Given the description of an element on the screen output the (x, y) to click on. 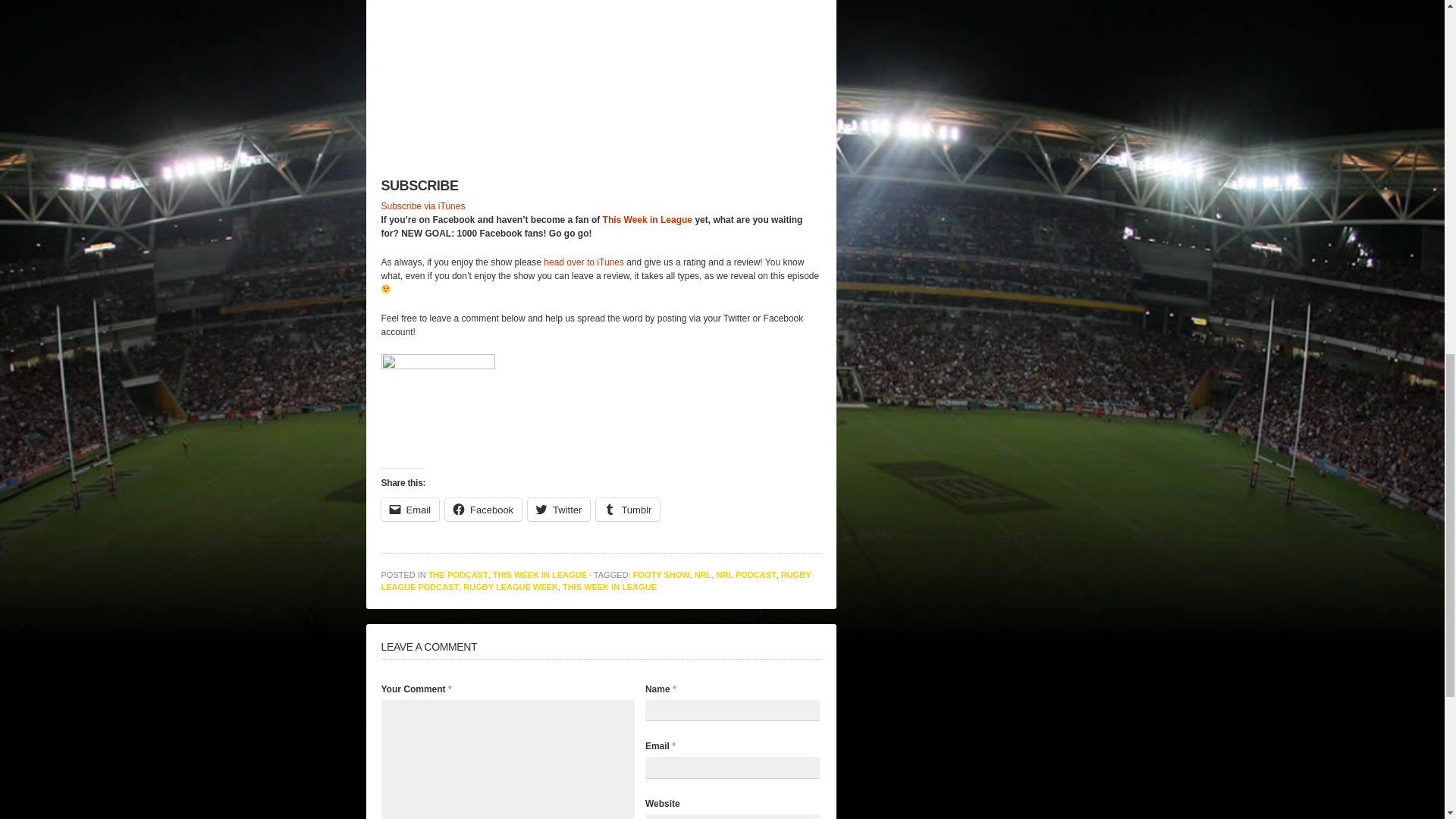
THIS WEEK IN LEAGUE (609, 586)
Click to email a link to a friend (409, 508)
RUGBY LEAGUE WEEK (510, 586)
Twitter (558, 508)
Click to share on Tumblr (627, 508)
Facebook (483, 508)
FOOTY SHOW (661, 574)
NRL PODCAST (746, 574)
Click to share on Facebook (483, 508)
THE PODCAST (457, 574)
